Given the description of an element on the screen output the (x, y) to click on. 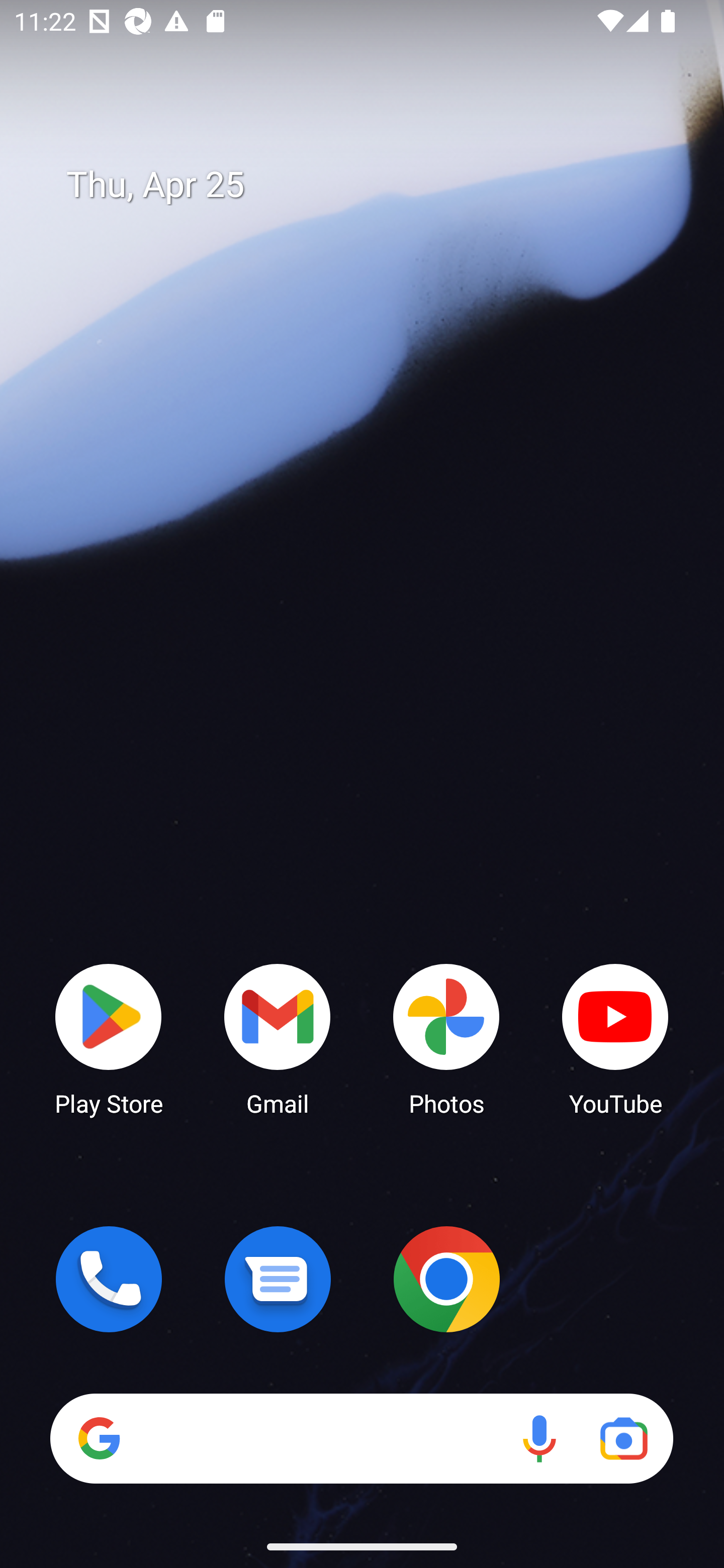
Thu, Apr 25 (375, 184)
Play Store (108, 1038)
Gmail (277, 1038)
Photos (445, 1038)
YouTube (615, 1038)
Phone (108, 1279)
Messages (277, 1279)
Chrome (446, 1279)
Search Voice search Google Lens (361, 1438)
Voice search (539, 1438)
Google Lens (623, 1438)
